Given the description of an element on the screen output the (x, y) to click on. 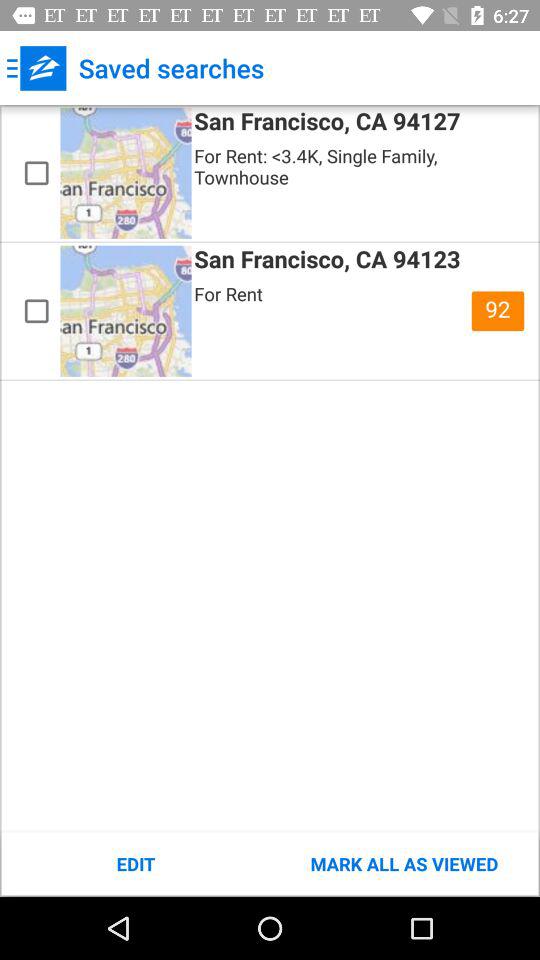
press icon next to the san francisco ca (497, 311)
